Given the description of an element on the screen output the (x, y) to click on. 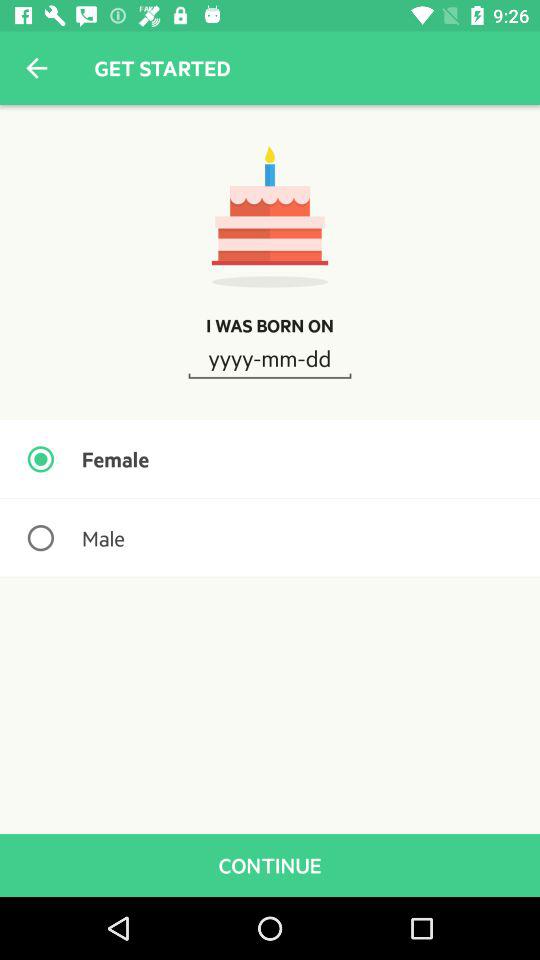
open the female item (270, 459)
